Given the description of an element on the screen output the (x, y) to click on. 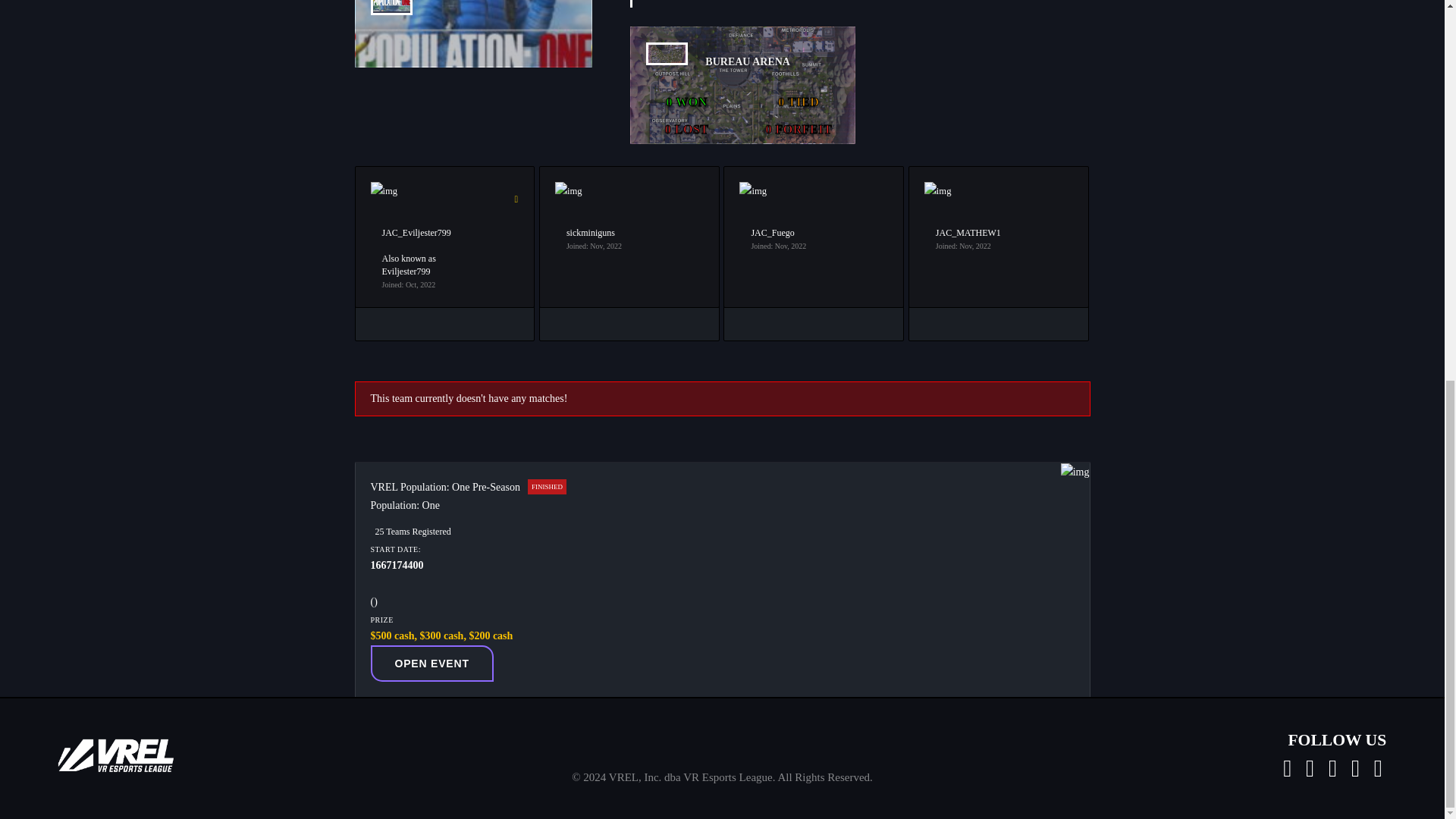
OPEN EVENT (431, 663)
POPULATION: ONE (473, 15)
sickminiguns (590, 232)
